Given the description of an element on the screen output the (x, y) to click on. 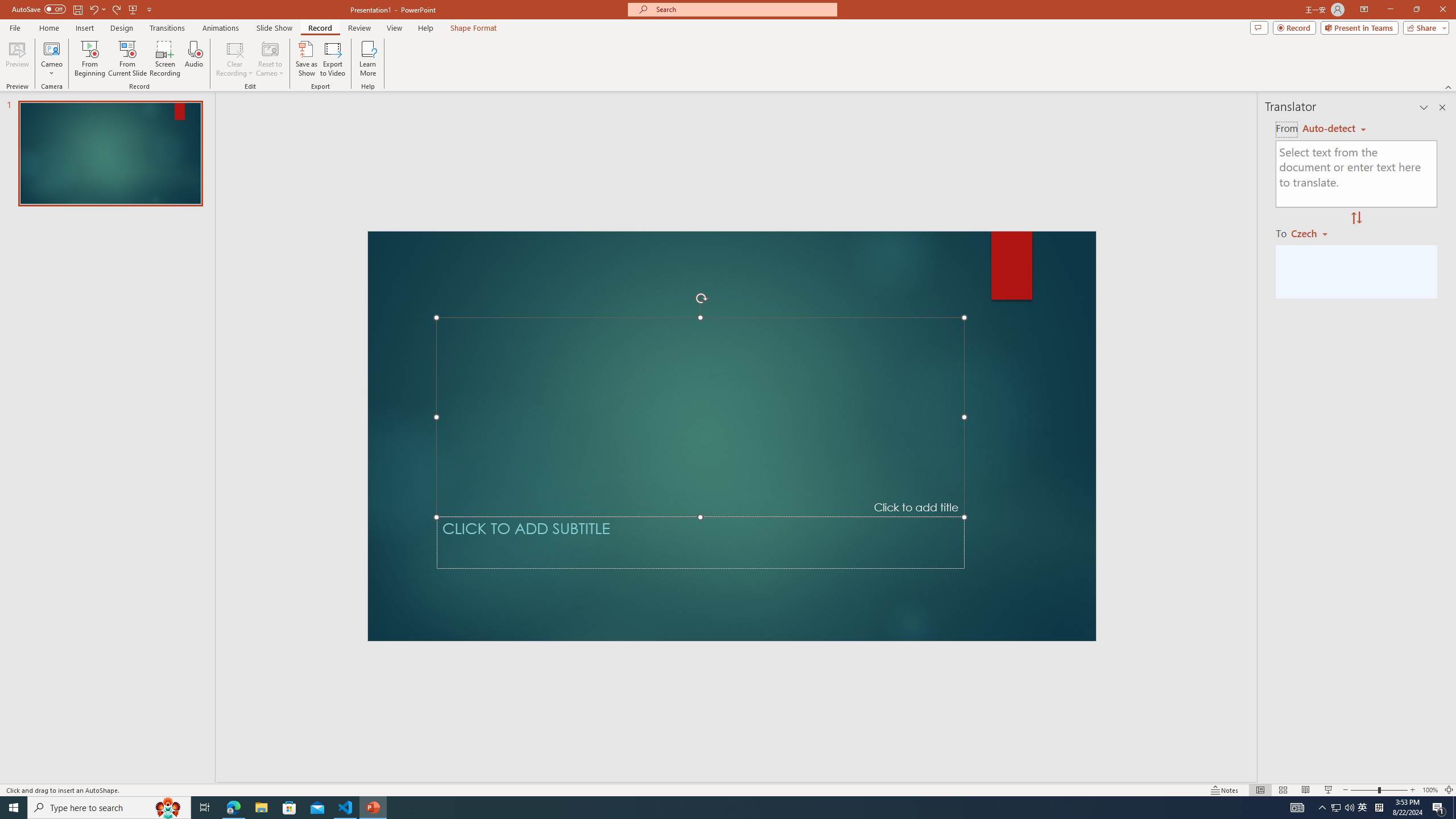
Microsoft search (742, 9)
Present in Teams (1359, 27)
Slide (110, 153)
From Current Slide... (127, 58)
More Options (51, 68)
Help (425, 28)
